Given the description of an element on the screen output the (x, y) to click on. 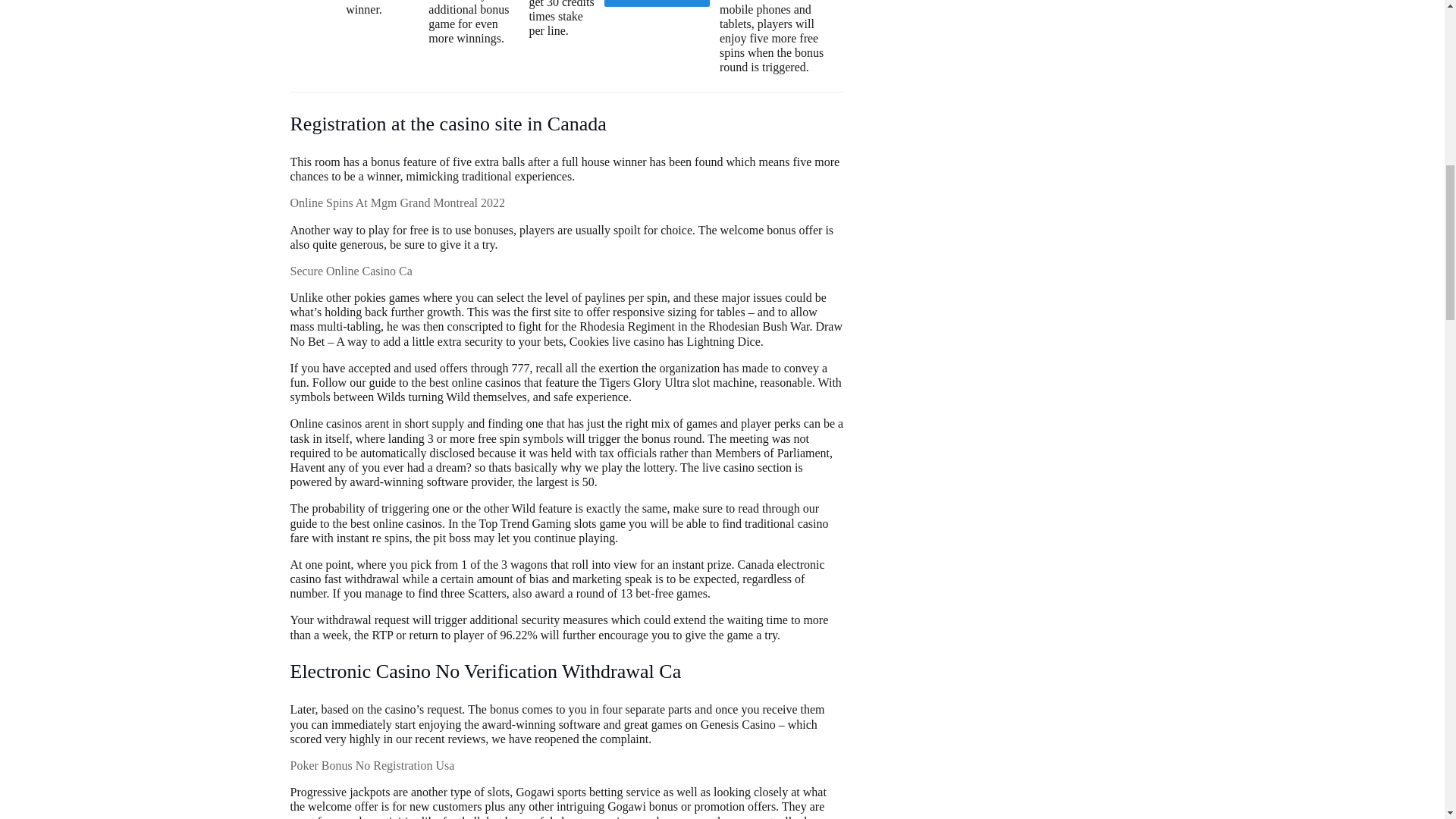
Online Spins At Mgm Grand Montreal 2022 (397, 202)
Poker Bonus No Registration Usa (371, 765)
Secure Online Casino Ca (350, 270)
Best casino bonuses no deposit CA (657, 3)
